Given the description of an element on the screen output the (x, y) to click on. 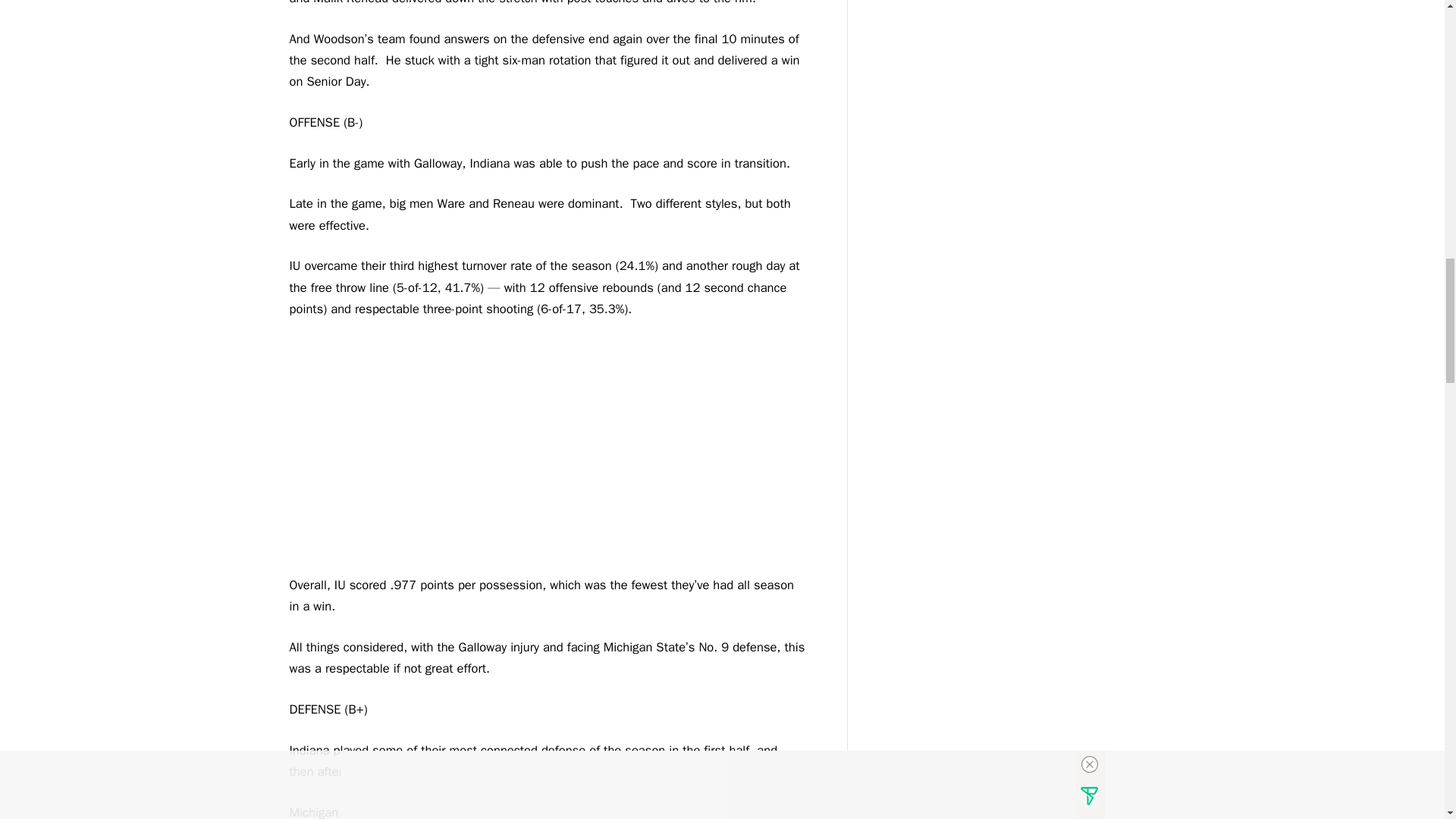
3rd party ad content (547, 454)
